Given the description of an element on the screen output the (x, y) to click on. 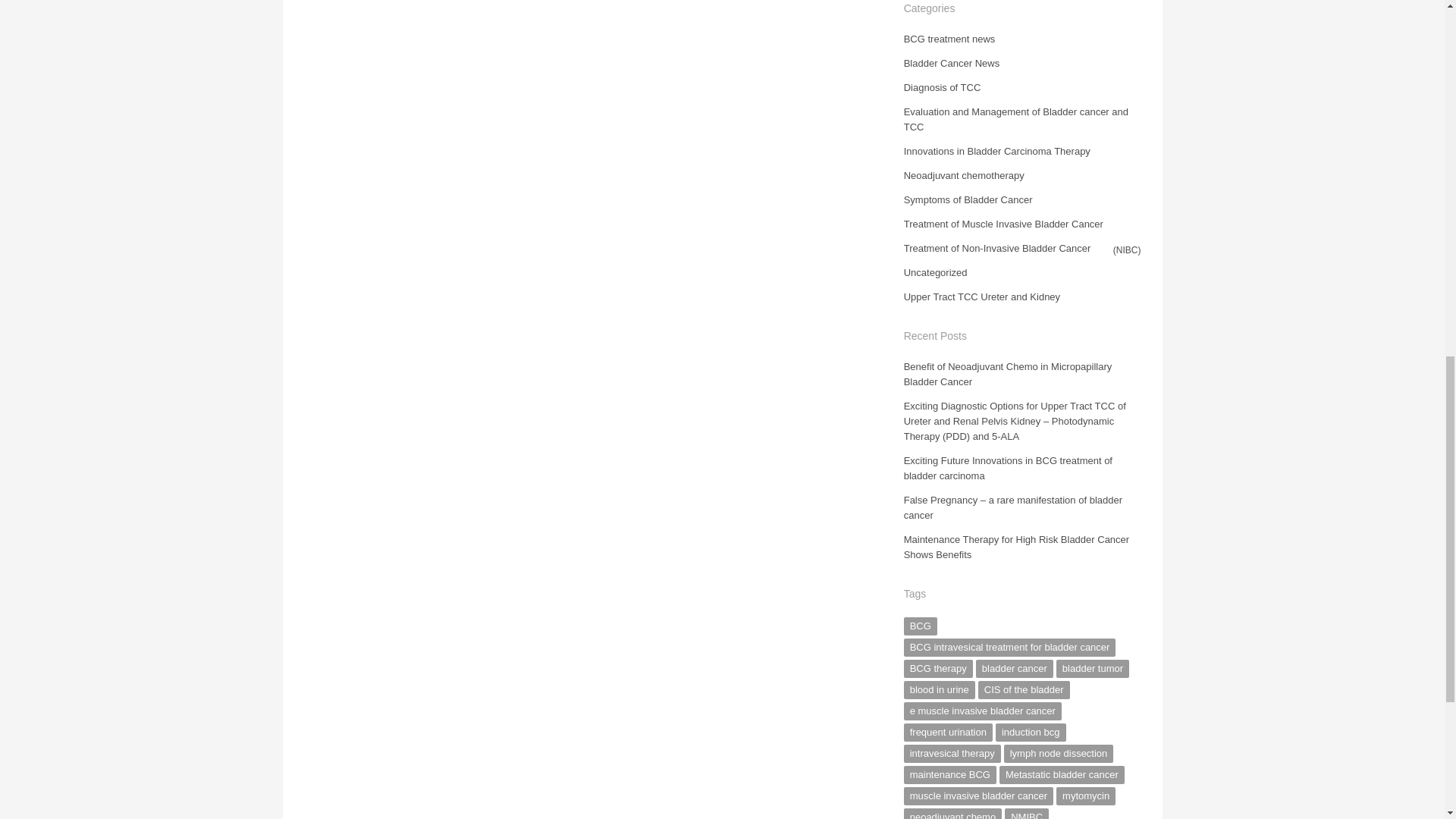
Bladder Cancer News (951, 62)
BCG treatment news (949, 39)
